Given the description of an element on the screen output the (x, y) to click on. 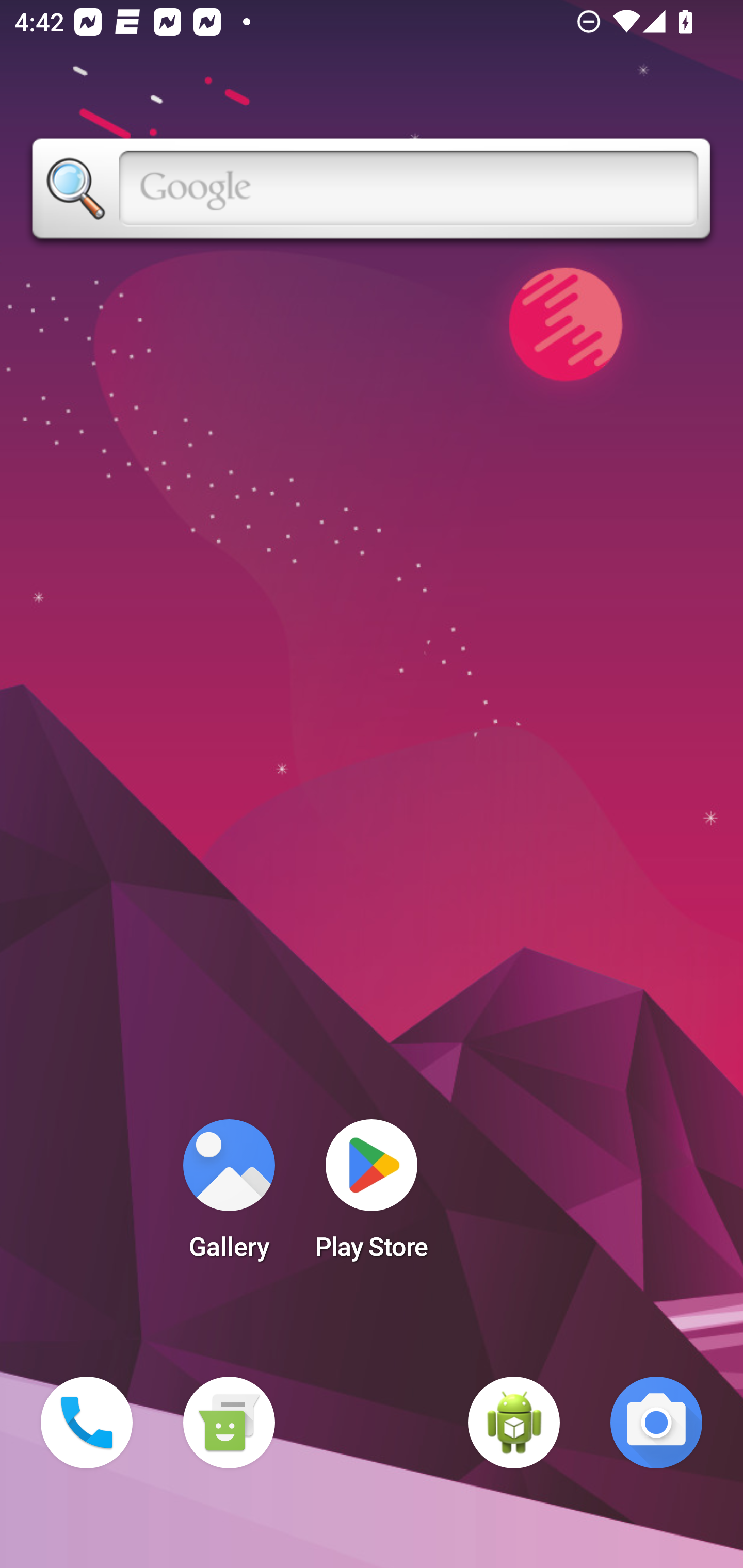
Gallery (228, 1195)
Play Store (371, 1195)
Phone (86, 1422)
Messaging (228, 1422)
WebView Browser Tester (513, 1422)
Camera (656, 1422)
